Given the description of an element on the screen output the (x, y) to click on. 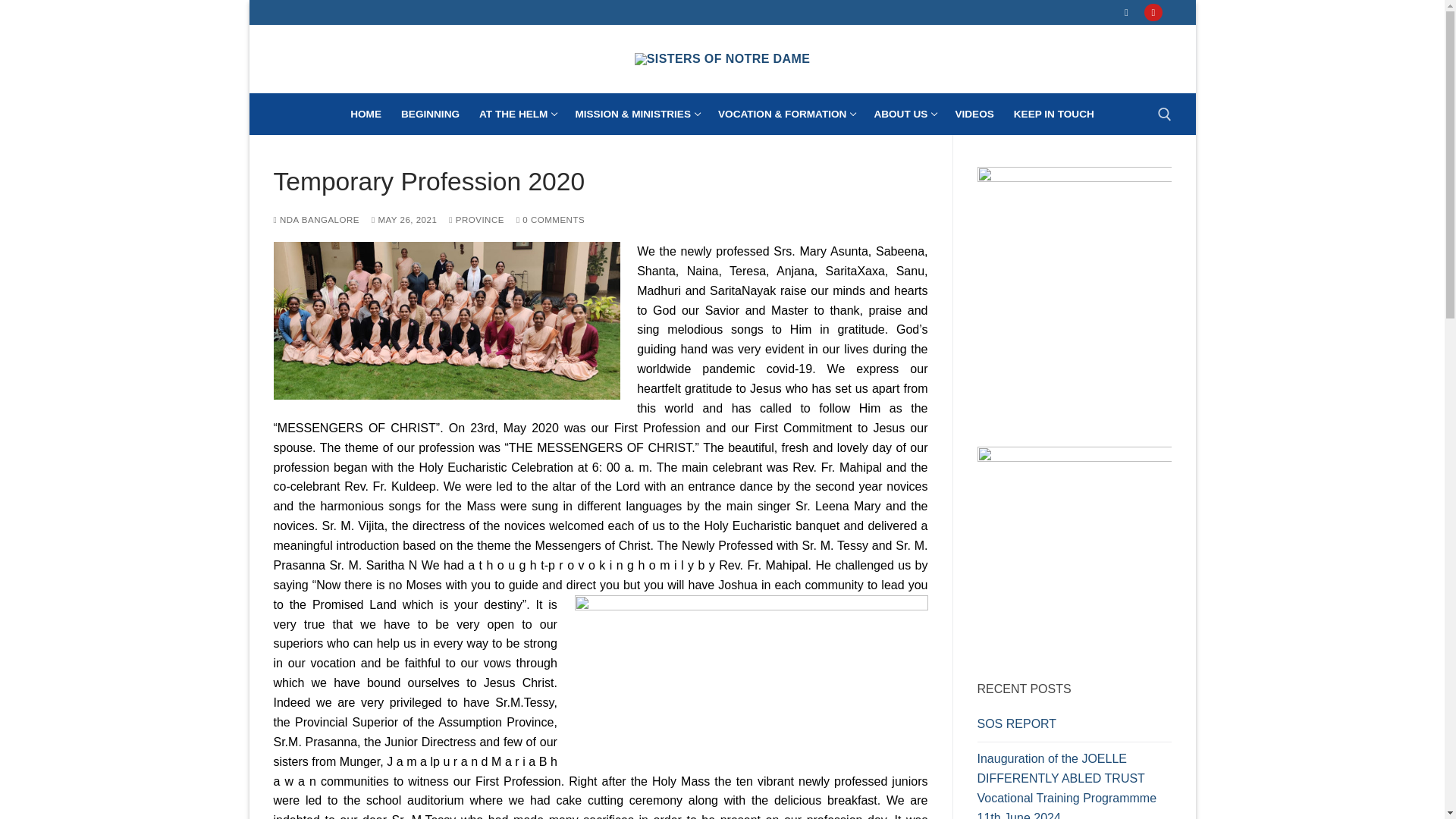
VIDEOS (973, 114)
BEGINNING (429, 114)
HOME (903, 114)
KEEP IN TOUCH (365, 114)
Facebook (1053, 114)
Youtube (1126, 12)
